Given the description of an element on the screen output the (x, y) to click on. 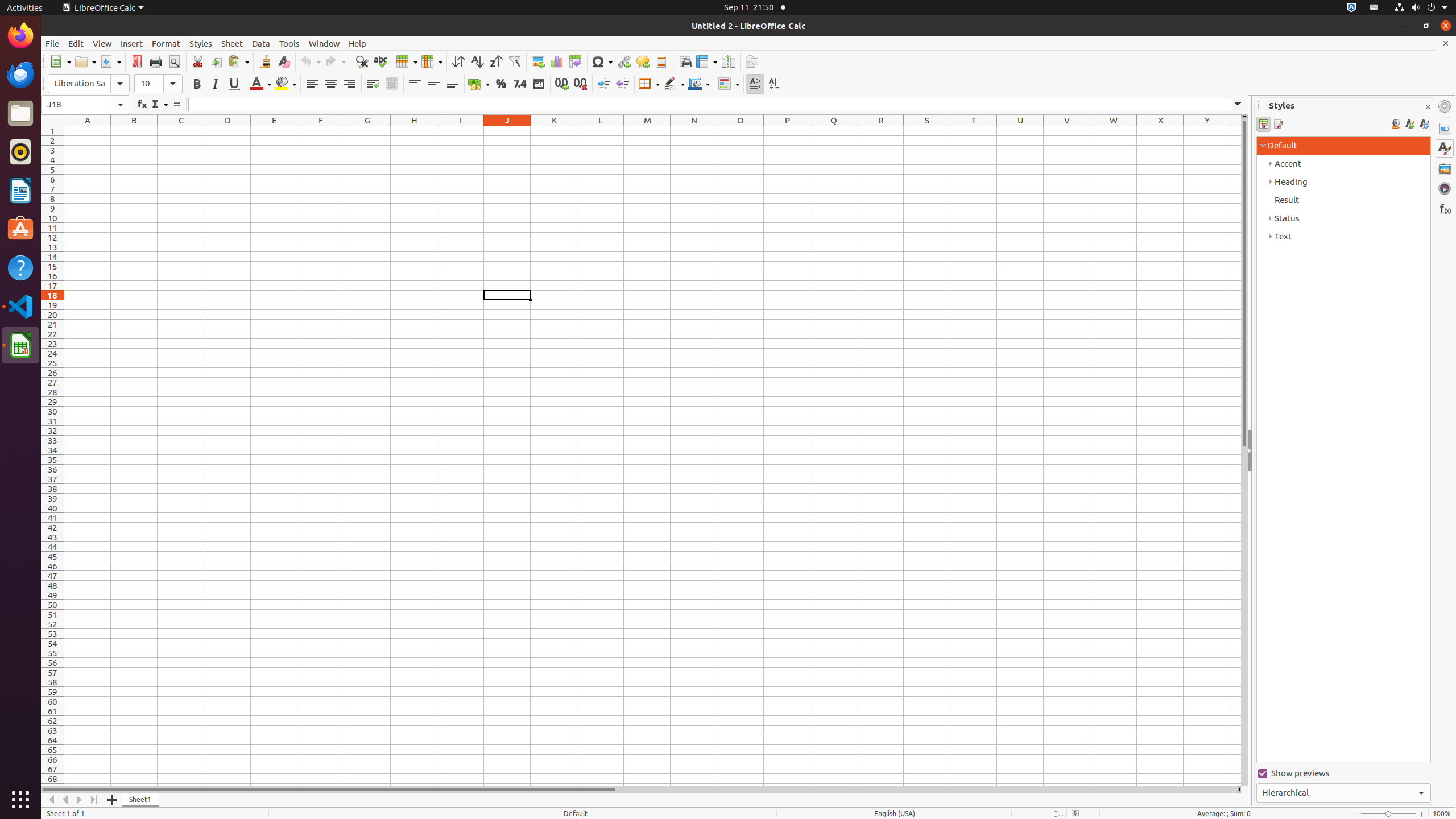
PDF Element type: push-button (136, 61)
Decrease Element type: push-button (622, 83)
Increase Element type: push-button (603, 83)
Print Element type: push-button (155, 61)
